Given the description of an element on the screen output the (x, y) to click on. 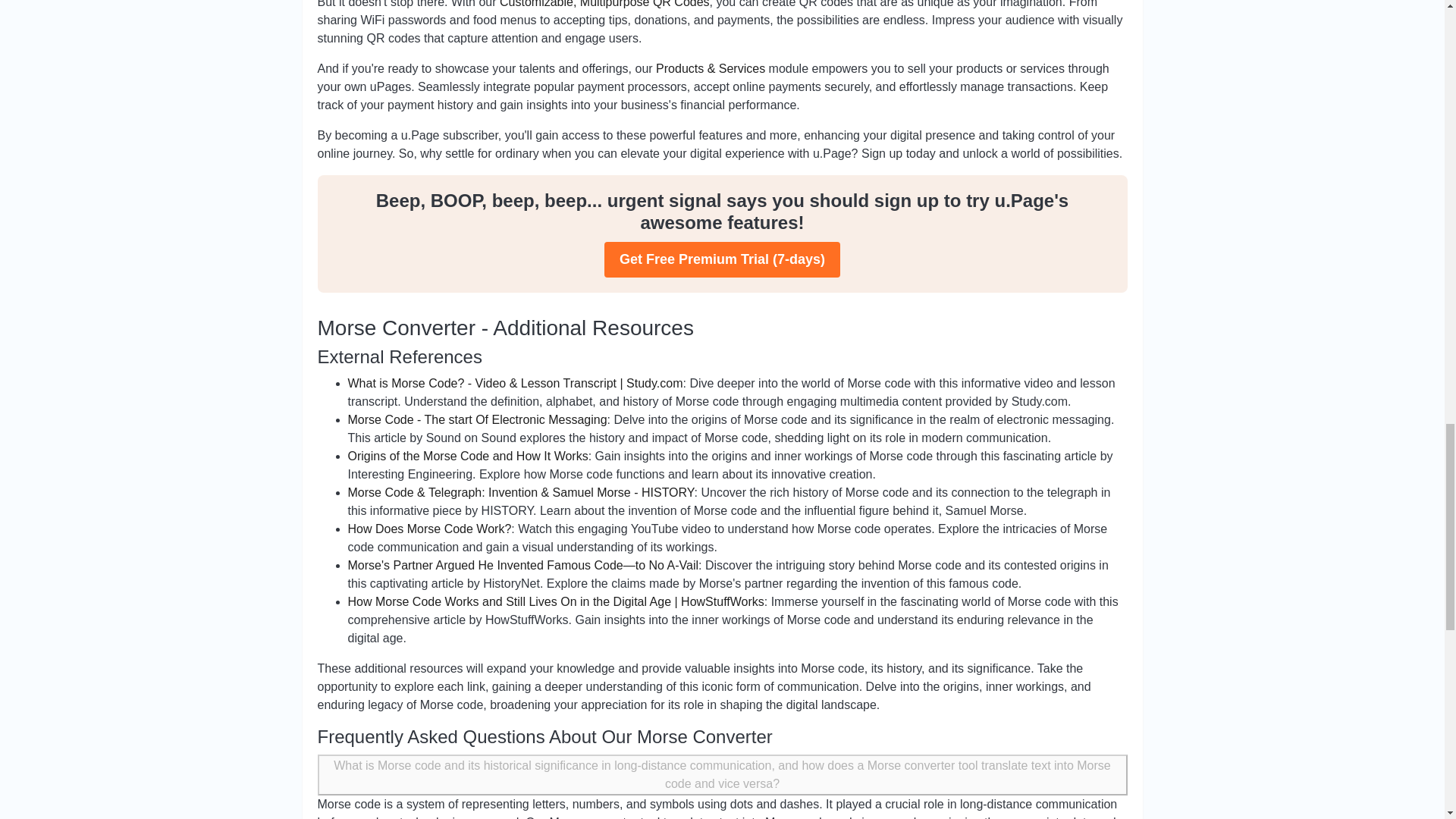
Morse Code - The start Of Electronic Messaging (477, 419)
Customizable, Multipurpose QR Codes (604, 4)
Origins of the Morse Code and How It Works (467, 455)
How Does Morse Code Work? (429, 528)
